Given the description of an element on the screen output the (x, y) to click on. 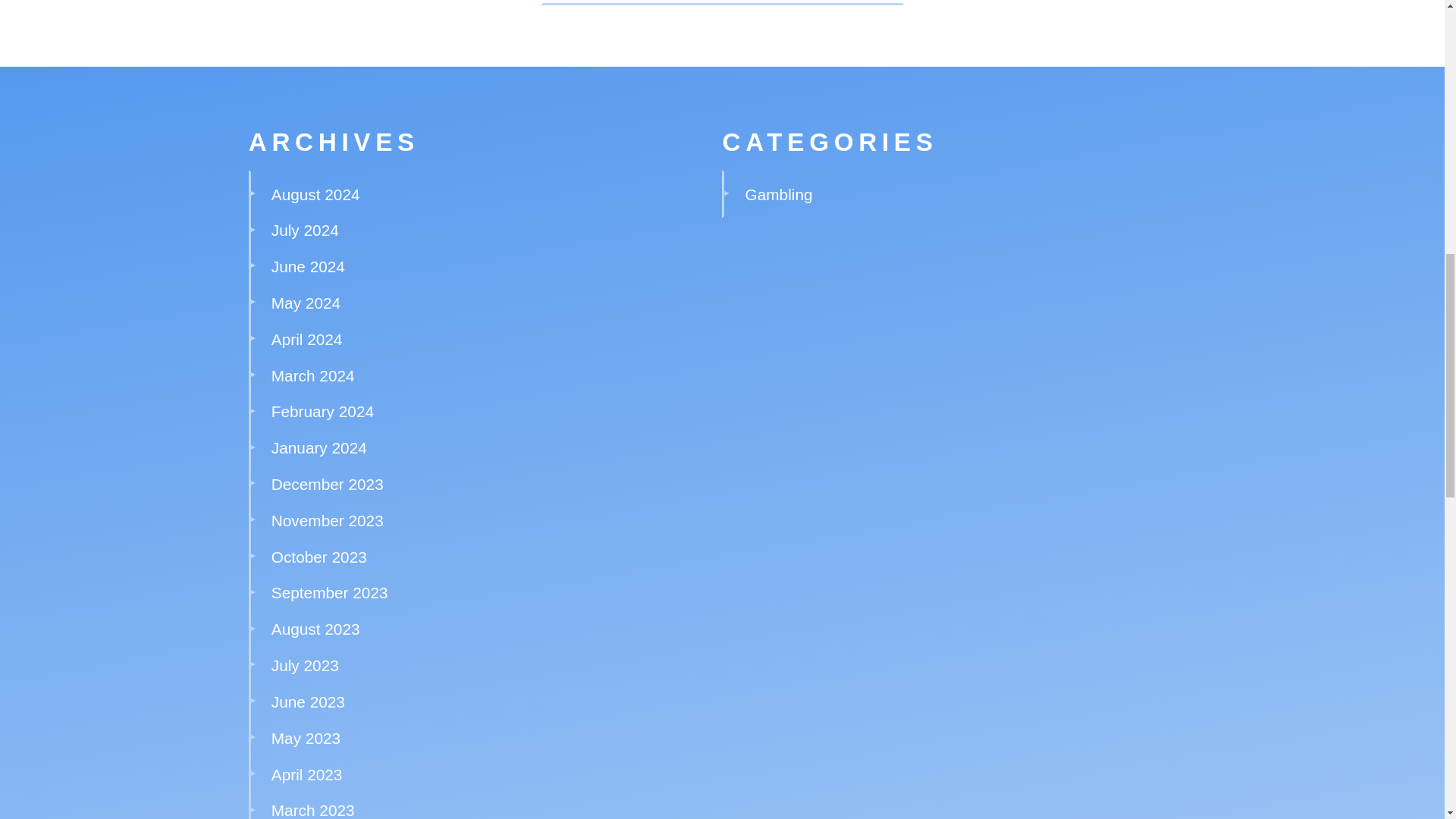
Gambling (778, 194)
July 2024 (304, 230)
May 2023 (305, 737)
March 2023 (312, 810)
September 2023 (329, 592)
October 2023 (318, 556)
January 2024 (318, 447)
March 2024 (312, 375)
July 2023 (304, 665)
April 2023 (306, 773)
